Given the description of an element on the screen output the (x, y) to click on. 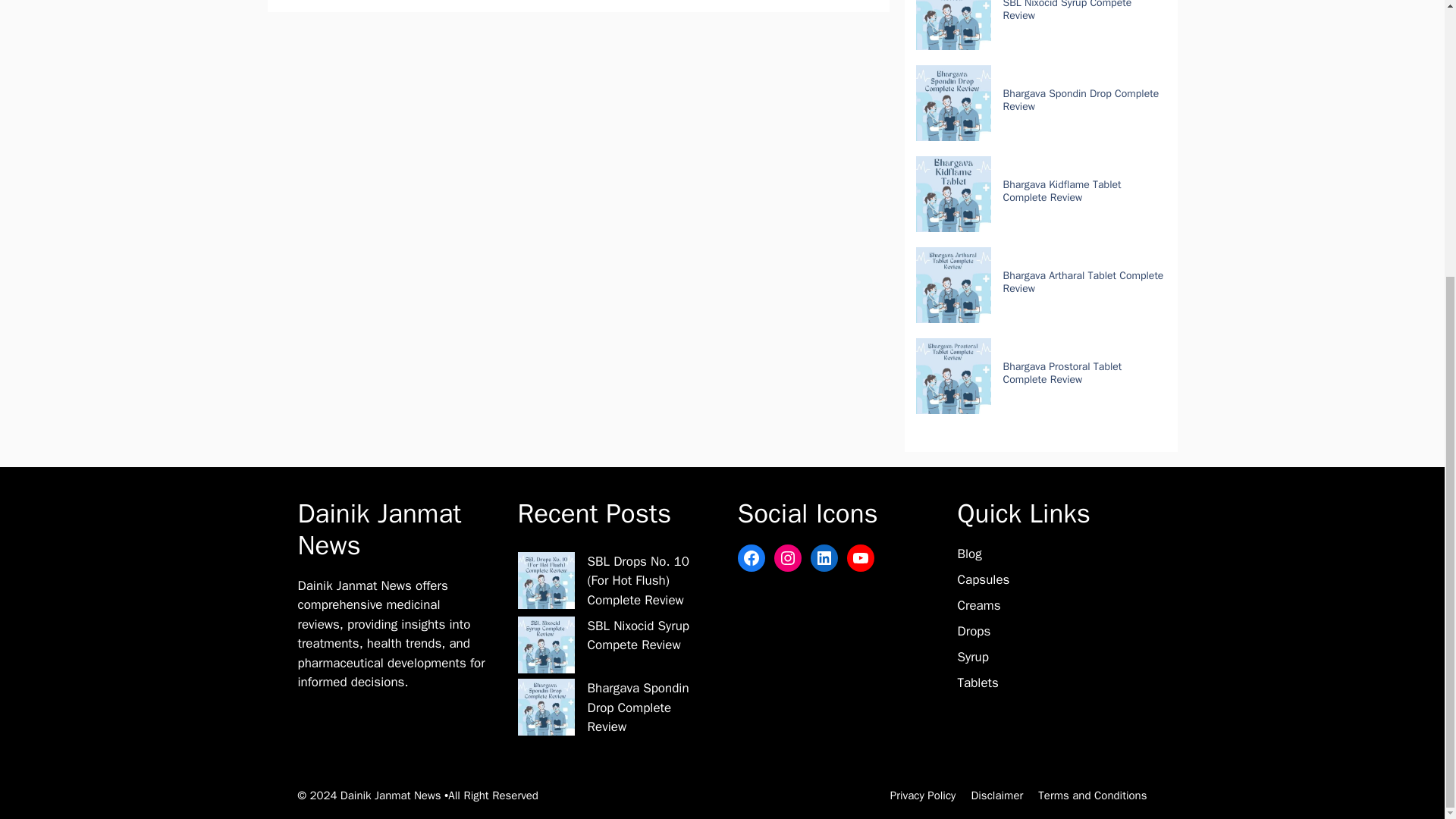
Privacy Policy (922, 795)
Bhargava Spondin Drop Complete Review (1080, 99)
Facebook (750, 557)
Creams (978, 605)
Syrup (972, 657)
Bhargava Prostoral Tablet Complete Review (1062, 372)
LinkedIn (823, 557)
YouTube (859, 557)
Capsules (982, 579)
Bhargava Artharal Tablet Complete Review (1083, 281)
